Given the description of an element on the screen output the (x, y) to click on. 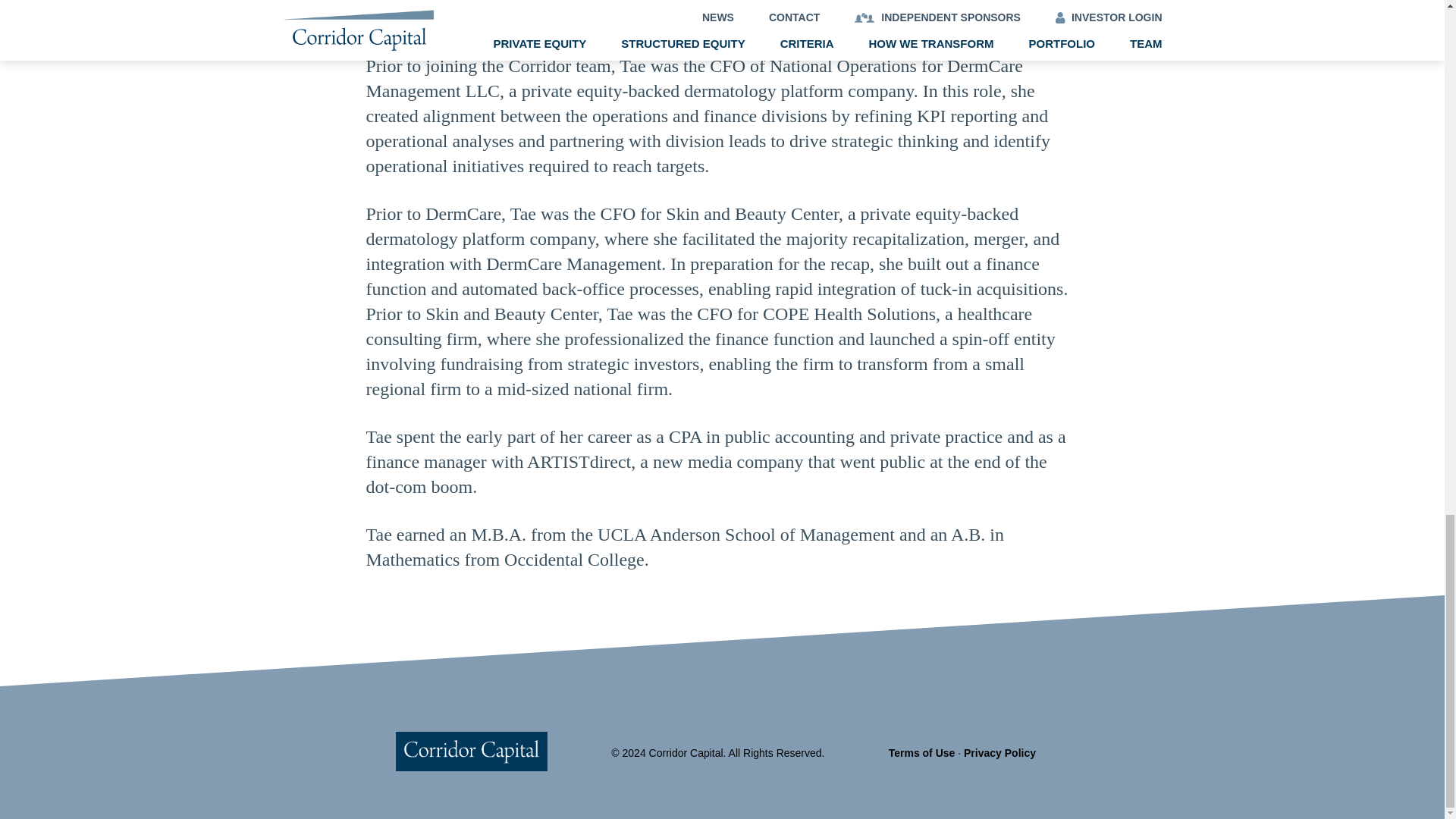
Corridor Capital (487, 767)
Privacy Policy (999, 752)
Terms of Use (921, 752)
